Given the description of an element on the screen output the (x, y) to click on. 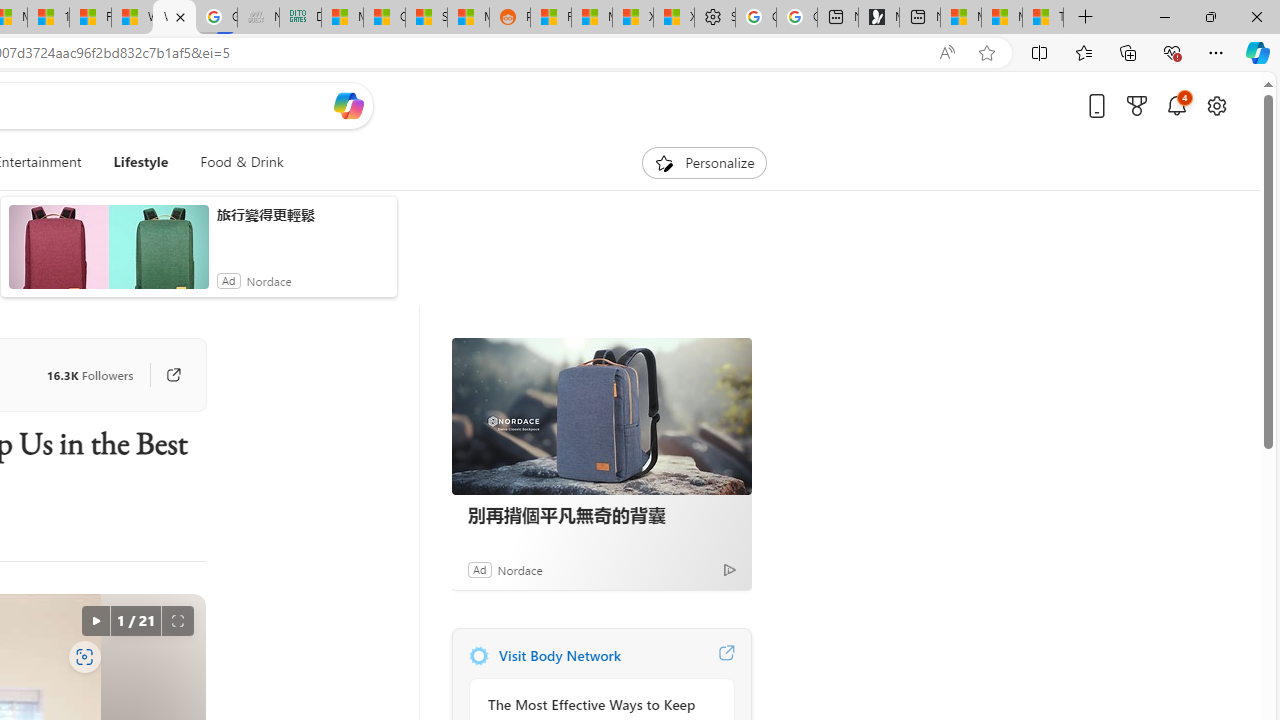
Food & Drink (234, 162)
Food & Drink (241, 162)
anim-content (107, 255)
Body Network (478, 655)
14 Common Myths Debunked By Scientific Facts (48, 17)
